Given the description of an element on the screen output the (x, y) to click on. 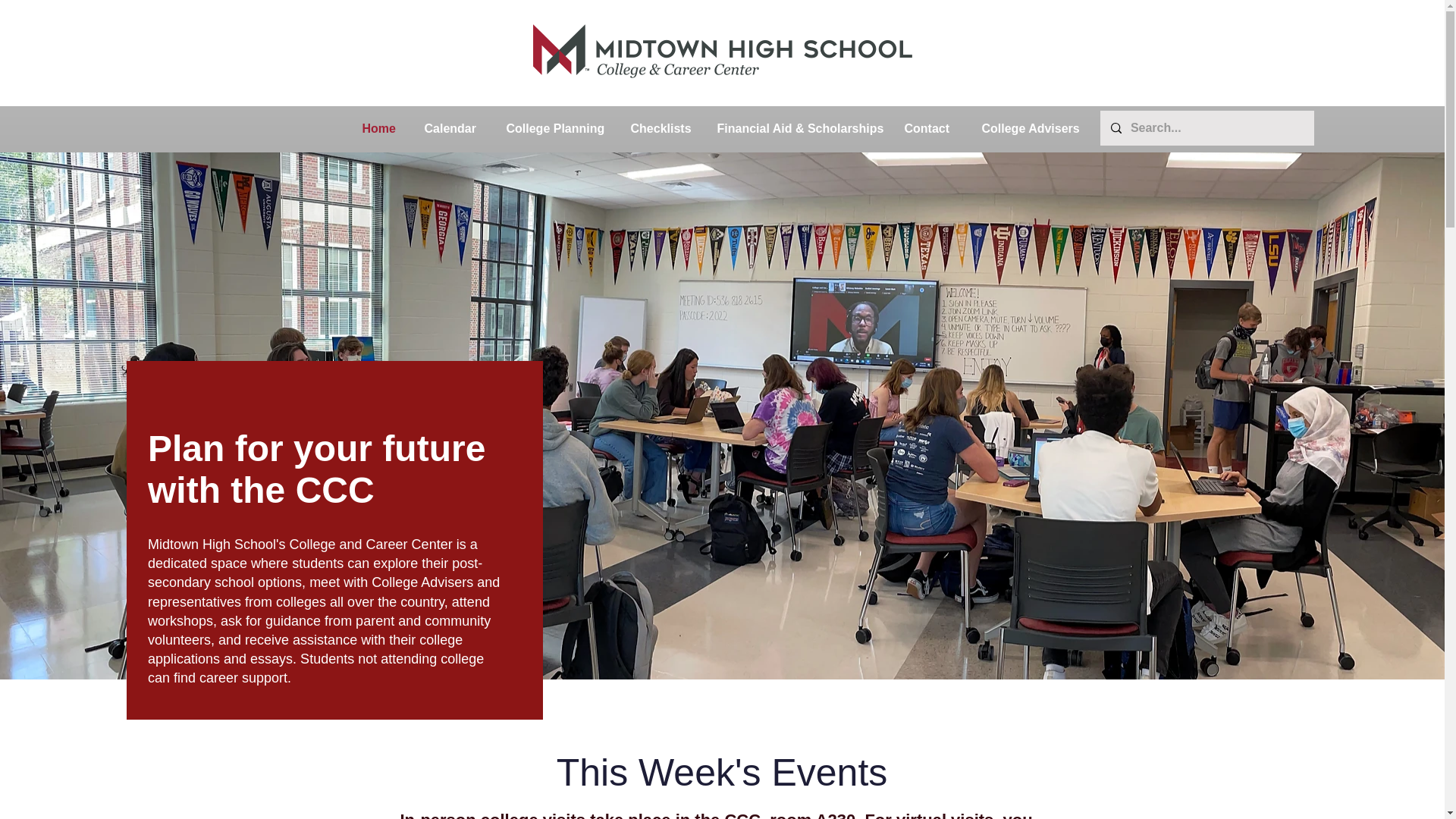
Calendar (453, 128)
Home (381, 128)
Contact (932, 128)
College Advisers (1032, 128)
